Given the description of an element on the screen output the (x, y) to click on. 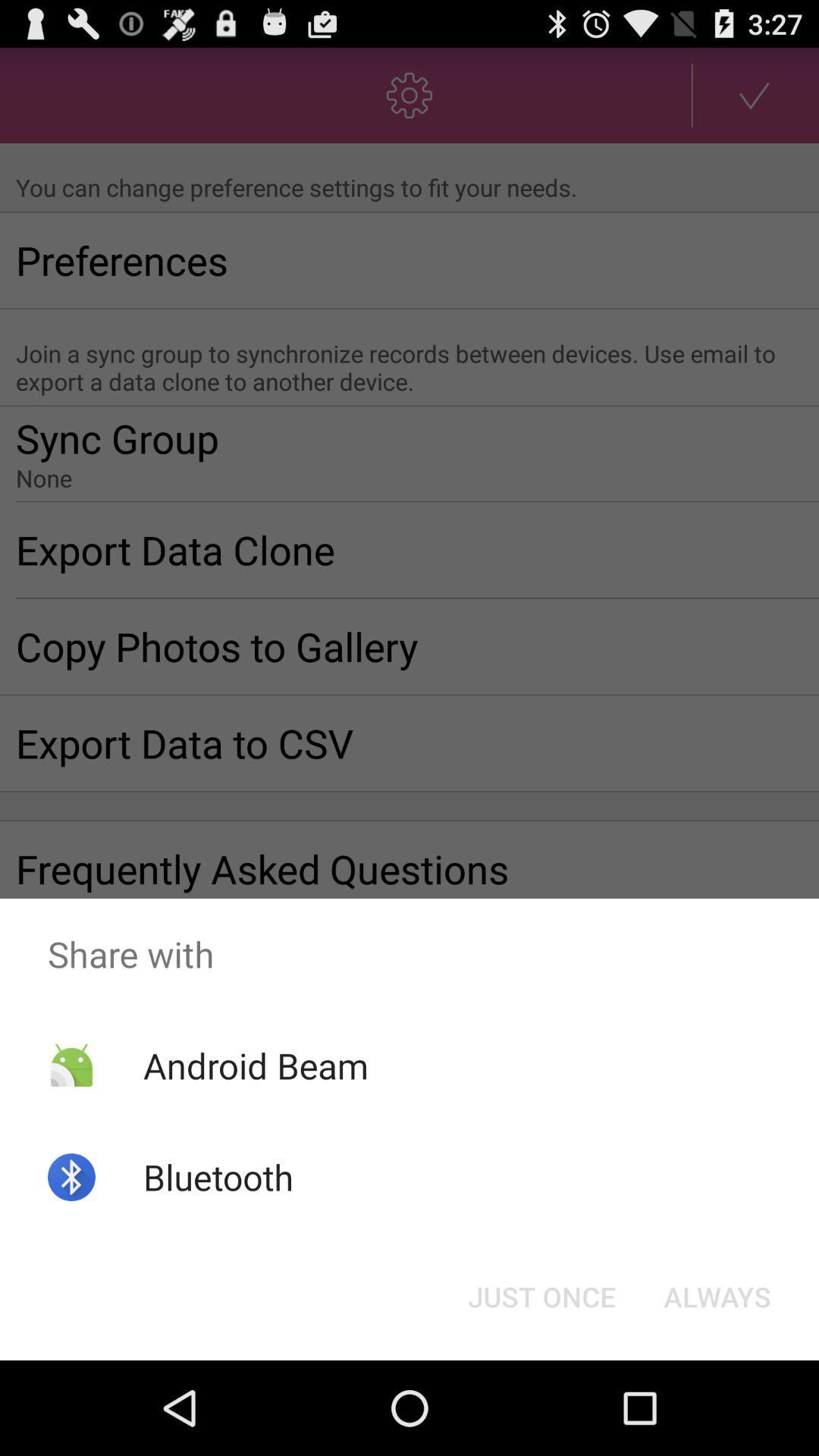
jump until just once item (541, 1296)
